Given the description of an element on the screen output the (x, y) to click on. 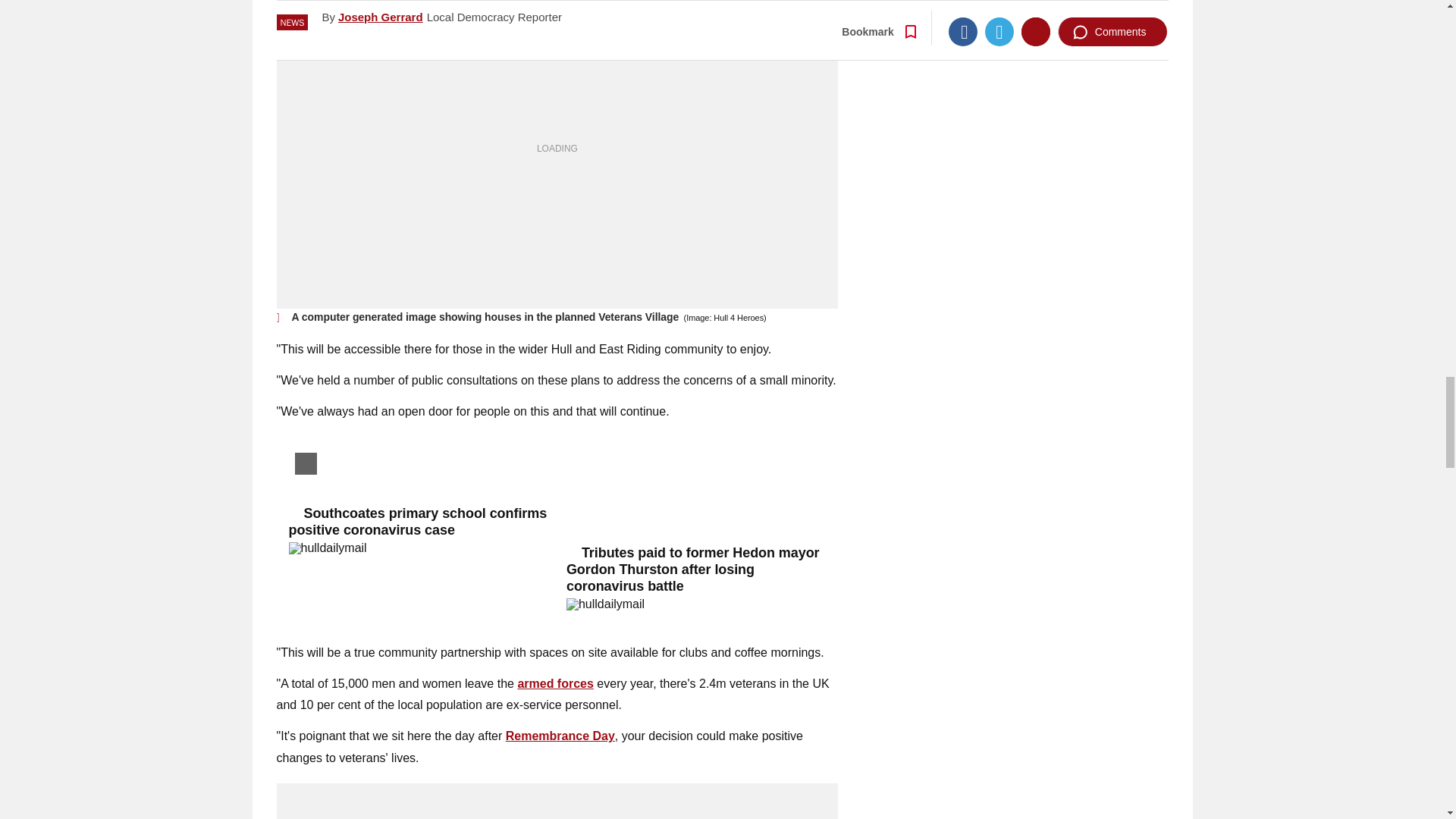
Latest armed forces news- Hull Live (555, 683)
